Given the description of an element on the screen output the (x, y) to click on. 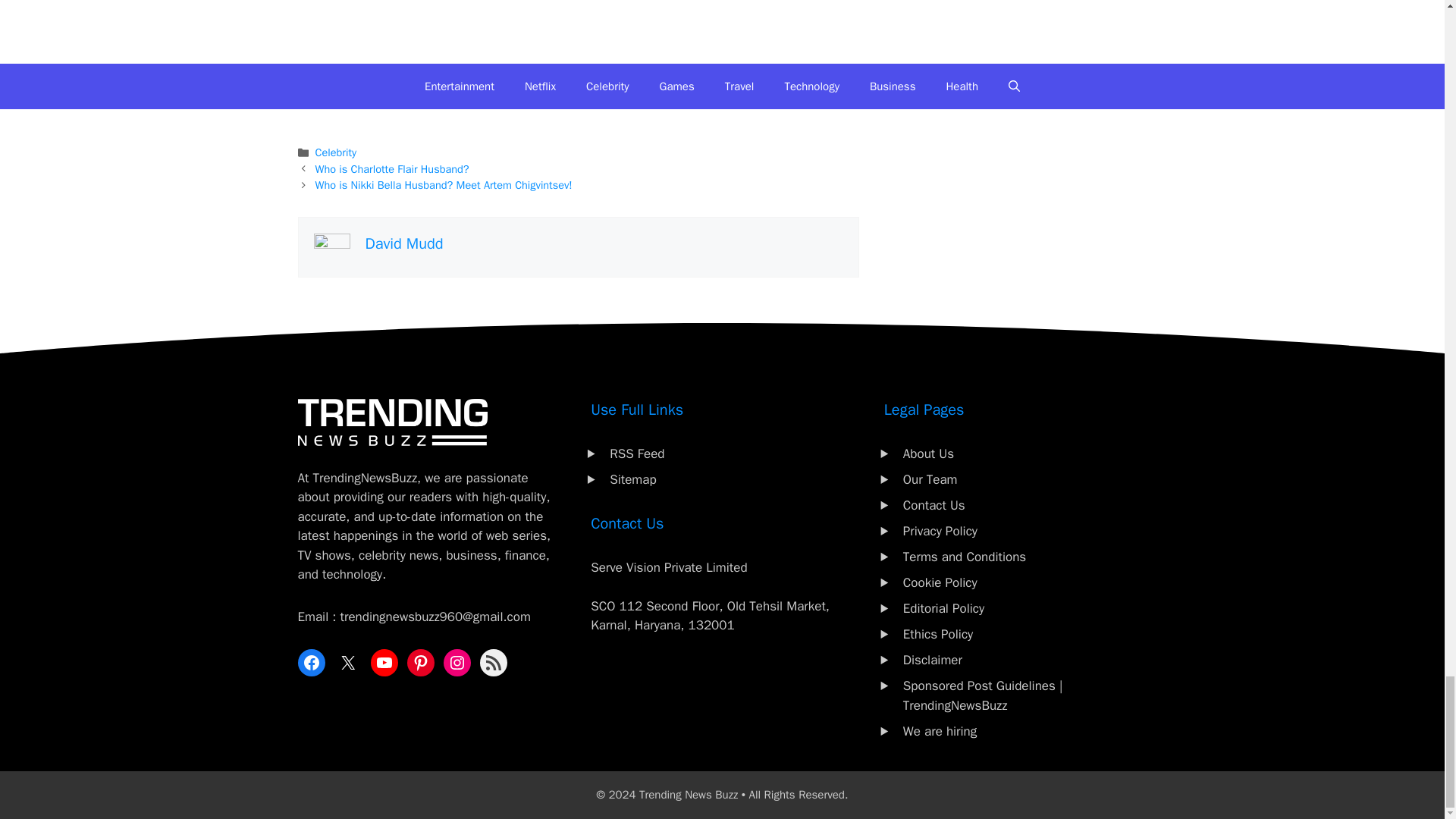
Who is Nikki Bella Husband? Meet Artem Chigvintsev! (443, 184)
David Mudd (404, 243)
Who is Charlotte Flair Husband? (391, 169)
Trendingnewsbuzz-white (391, 421)
Celebrity (335, 151)
